Given the description of an element on the screen output the (x, y) to click on. 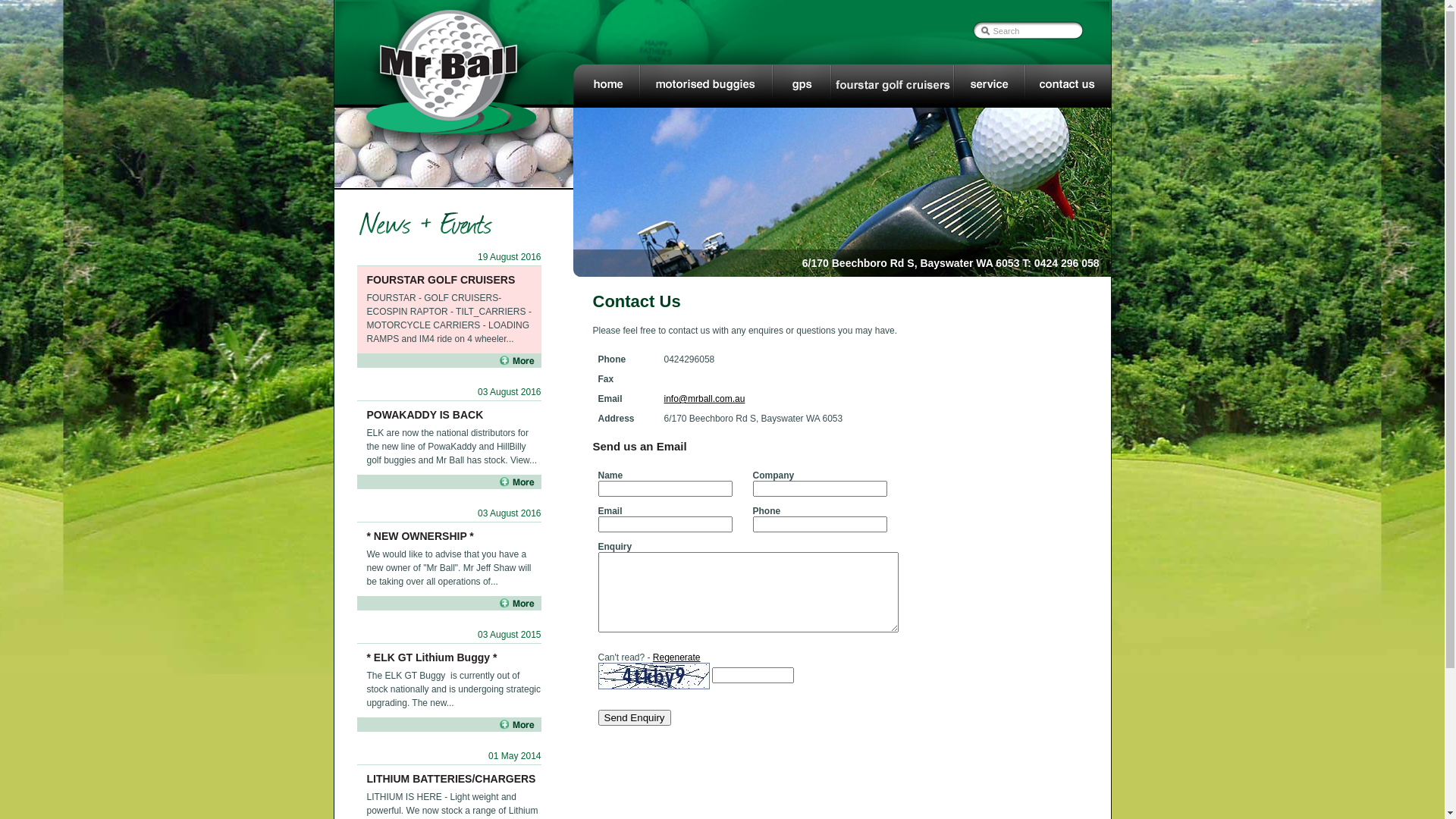
LITHIUM BATTERIES/CHARGERS Element type: text (451, 778)
* NEW OWNERSHIP * Element type: text (420, 536)
* ELK GT Lithium Buggy * Element type: text (432, 657)
POWAKADDY IS BACK Element type: text (425, 414)
Regenerate Element type: text (676, 657)
Search Element type: text (1028, 30)
FOURSTAR GOLF CRUISERS Element type: text (441, 279)
info@mrball.com.au Element type: text (704, 398)
Send Enquiry Element type: text (633, 717)
